Given the description of an element on the screen output the (x, y) to click on. 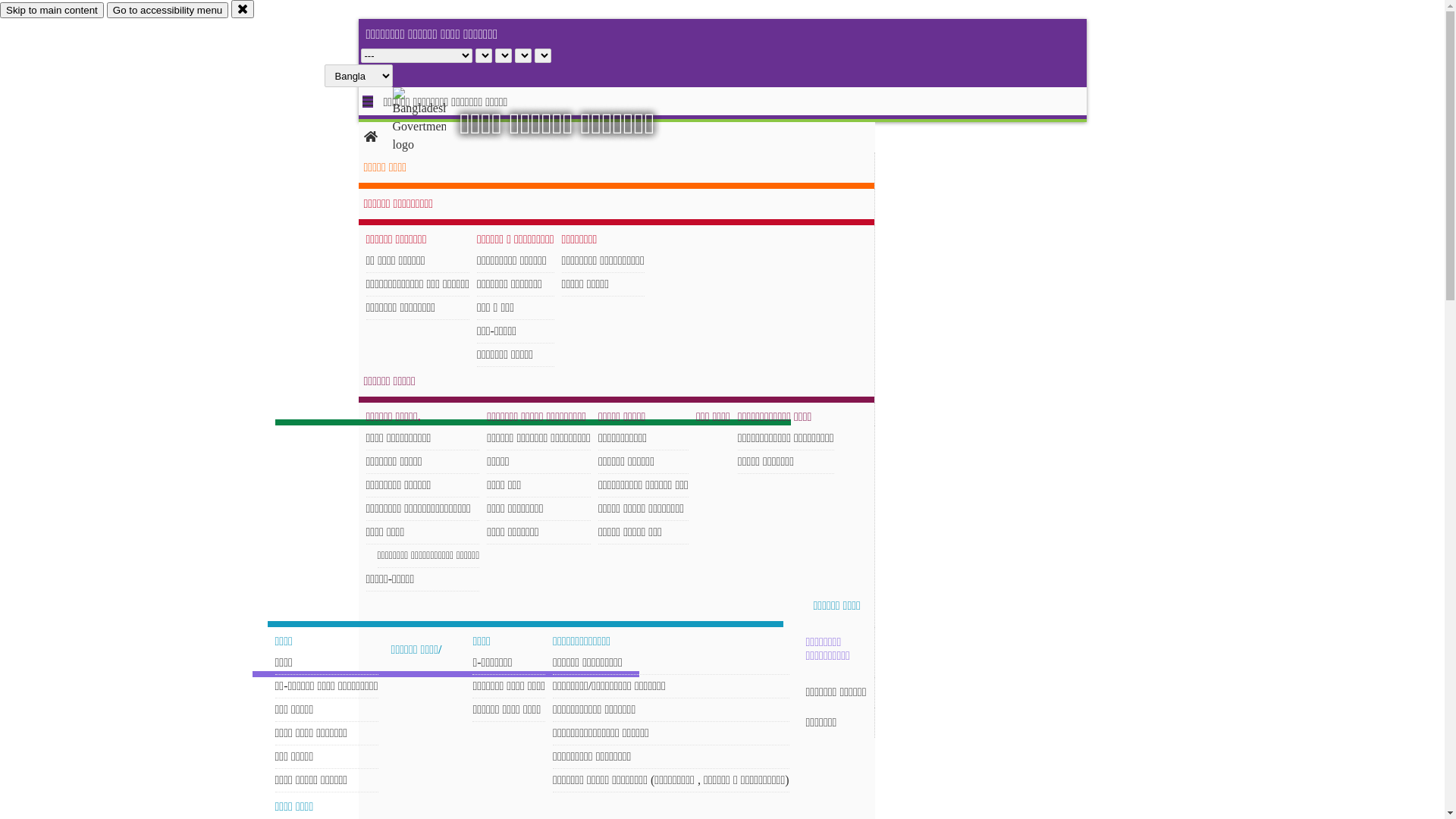

                
             Element type: hover (431, 120)
Go to accessibility menu Element type: text (167, 10)
close Element type: hover (242, 9)
Skip to main content Element type: text (51, 10)
